Given the description of an element on the screen output the (x, y) to click on. 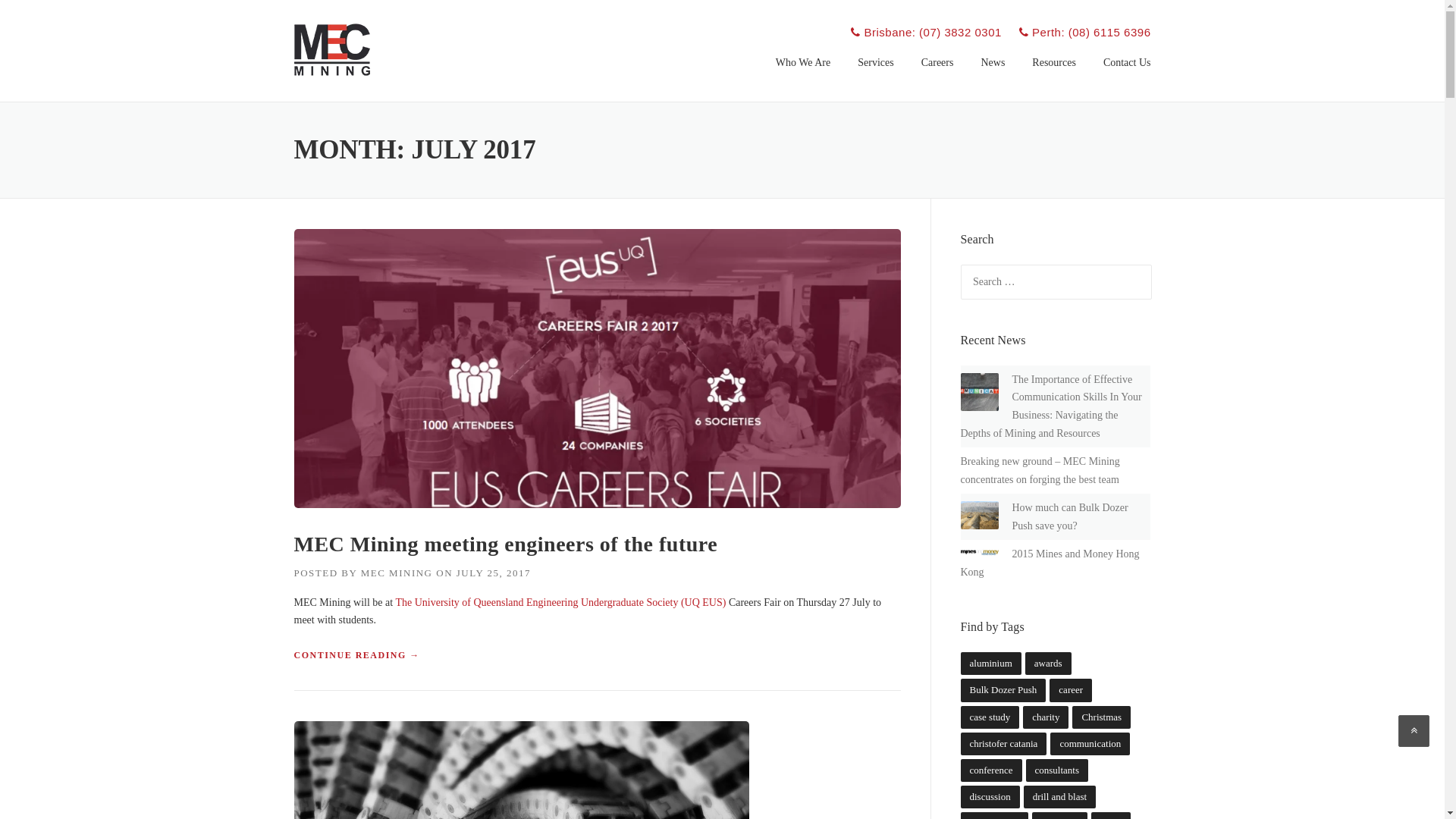
Search Element type: text (40, 17)
Contact Us Element type: text (1120, 73)
awards Element type: text (1048, 663)
News Element type: text (992, 73)
How much can Bulk Dozer Push save you? Element type: text (1069, 516)
case study Element type: text (989, 717)
conference Element type: text (990, 770)
christofer catania Element type: text (1003, 743)
communication Element type: text (1089, 743)
Bulk Dozer Push Element type: text (1002, 689)
Christmas Element type: text (1101, 717)
MEC Mining Element type: hover (332, 48)
Brisbane: (07) 3832 0301 Element type: text (925, 31)
Services Element type: text (875, 73)
MEC MINING Element type: text (396, 572)
Perth: (08) 6115 6396 Element type: text (1085, 31)
charity Element type: text (1045, 717)
discussion Element type: text (989, 796)
JULY 25, 2017 Element type: text (493, 572)
Who We Are Element type: text (803, 73)
career Element type: text (1070, 689)
drill and blast Element type: text (1059, 796)
consultants Element type: text (1057, 770)
2015 Mines and Money Hong Kong Element type: text (1049, 562)
Careers Element type: text (937, 73)
aluminium Element type: text (990, 663)
MEC Mining meeting engineers of the future Element type: text (506, 543)
Resources Element type: text (1053, 73)
